Given the description of an element on the screen output the (x, y) to click on. 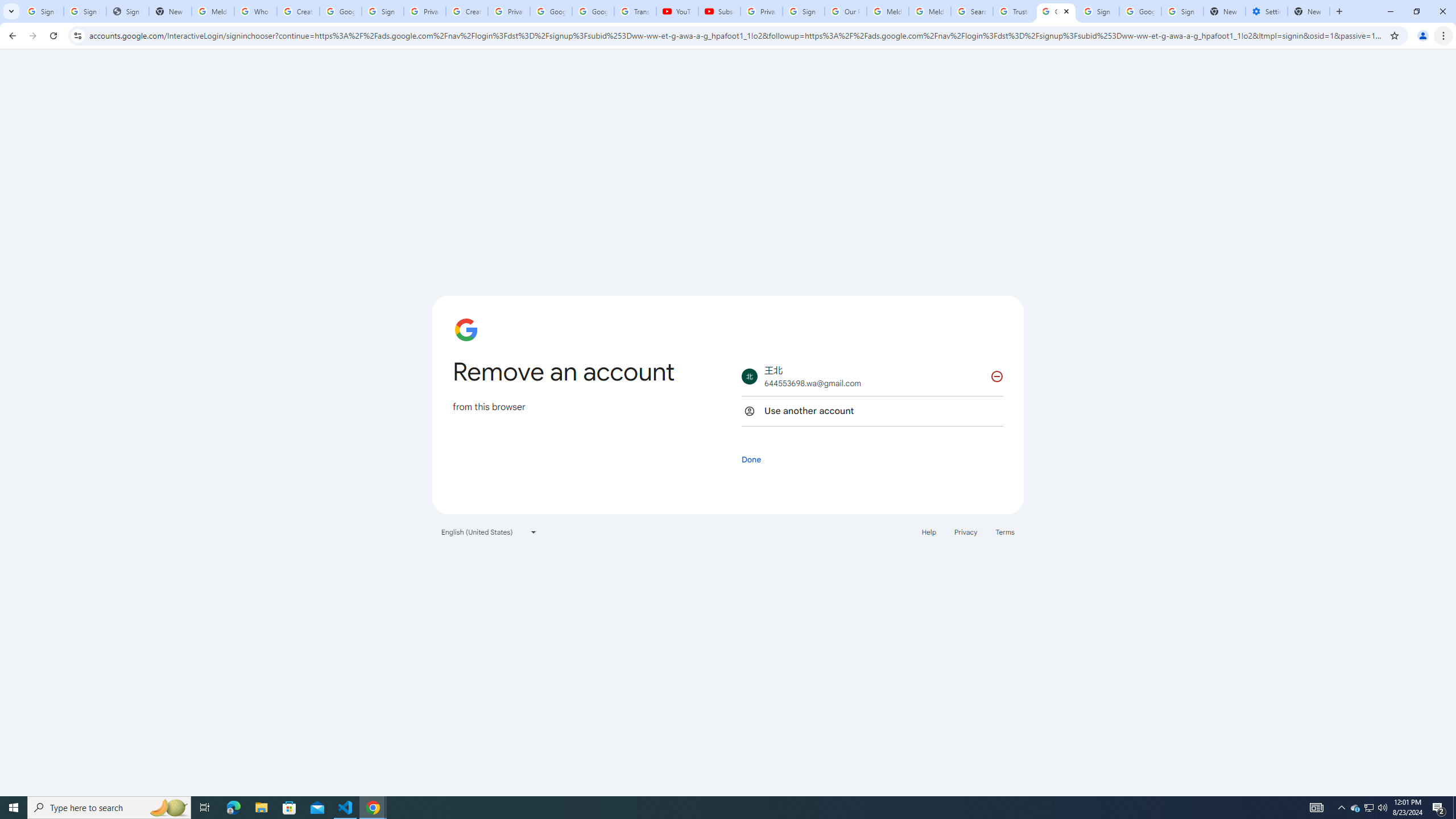
Done (751, 458)
Sign in - Google Accounts (1097, 11)
Subscriptions - YouTube (719, 11)
Sign in - Google Accounts (1182, 11)
Google Cybersecurity Innovations - Google Safety Center (1139, 11)
